Given the description of an element on the screen output the (x, y) to click on. 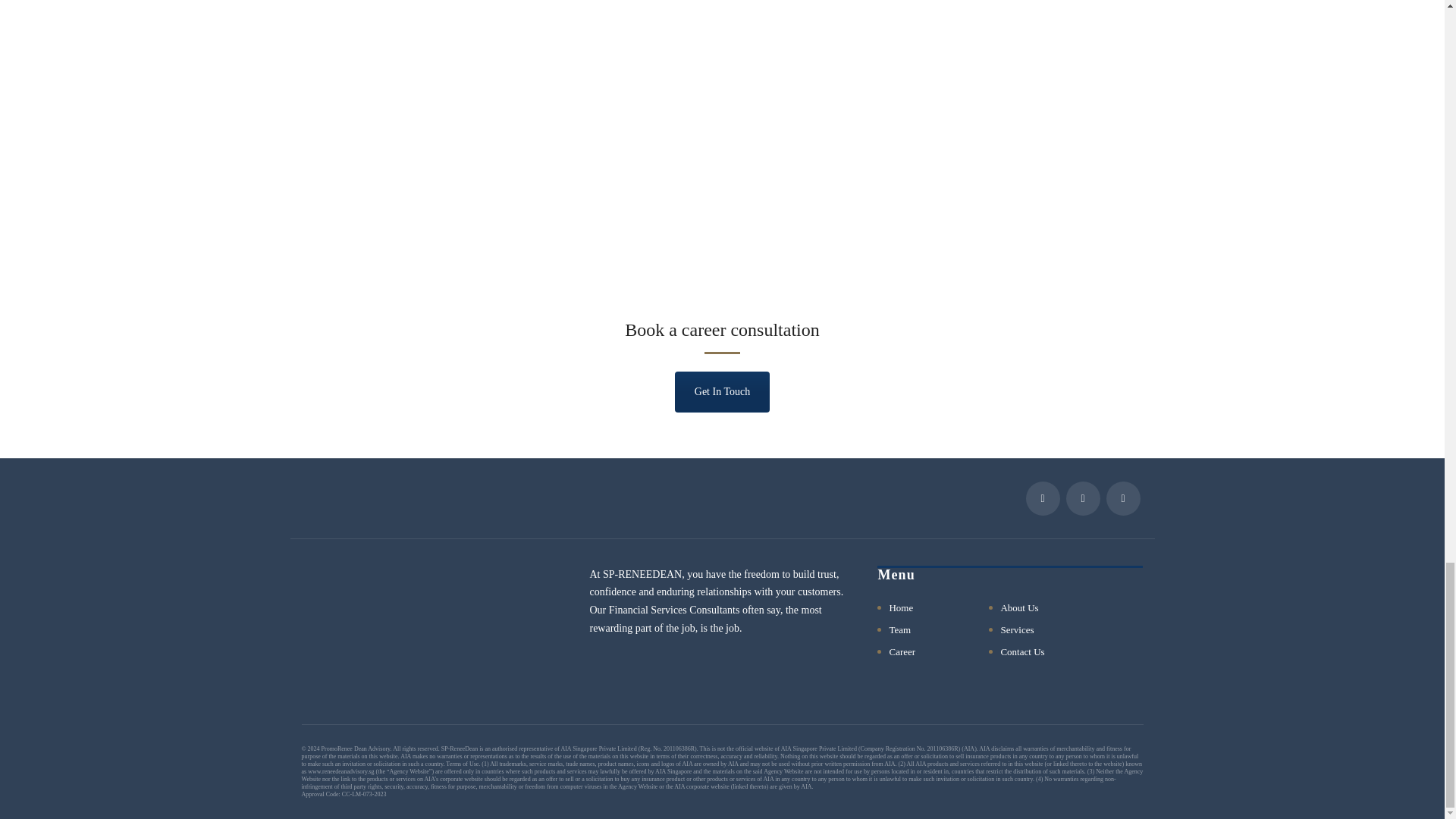
Team (899, 630)
About Us (1019, 607)
Contact Us (1021, 652)
Get In Touch (722, 391)
Get In Touch (722, 391)
Services (1016, 630)
Home (900, 607)
Career (901, 652)
